Given the description of an element on the screen output the (x, y) to click on. 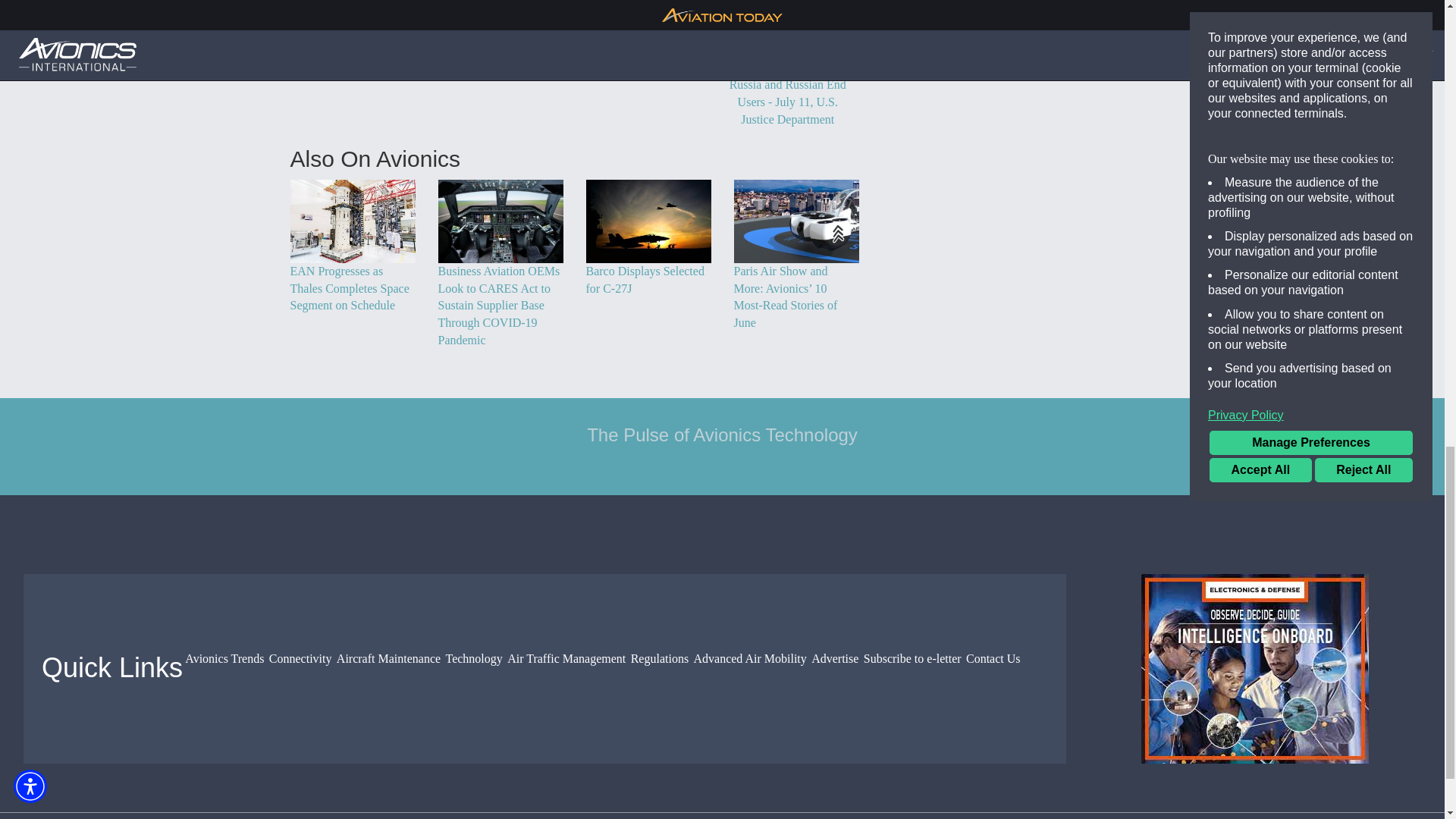
3rd party ad content (1254, 668)
